Given the description of an element on the screen output the (x, y) to click on. 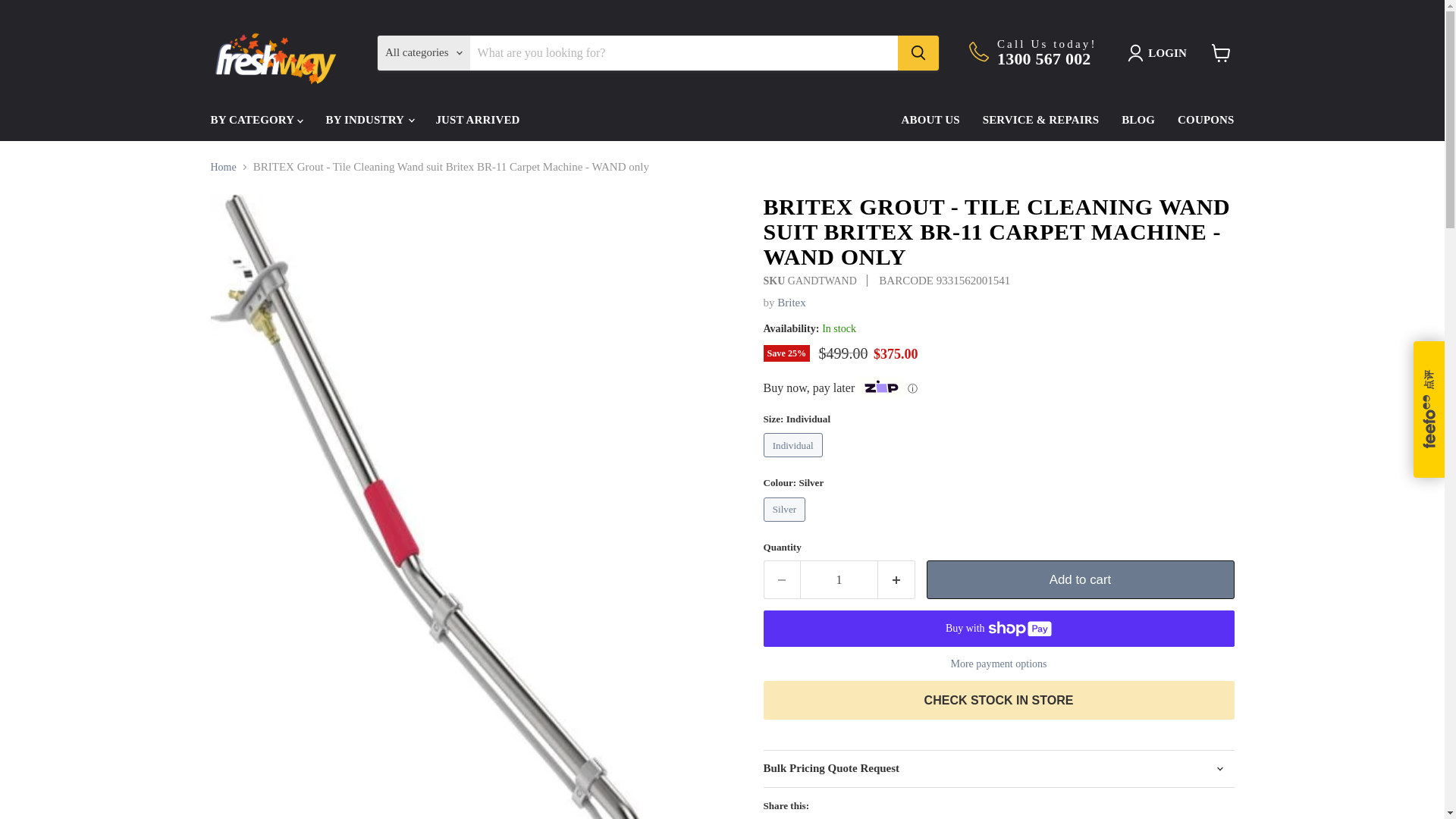
Call Us today! (1047, 43)
1 (838, 579)
tel:1300 567 002 (1043, 58)
View cart (1221, 52)
LOGIN (1159, 53)
1300 567 002 (1043, 58)
Britex (791, 302)
Zip payment Information (910, 388)
